Given the description of an element on the screen output the (x, y) to click on. 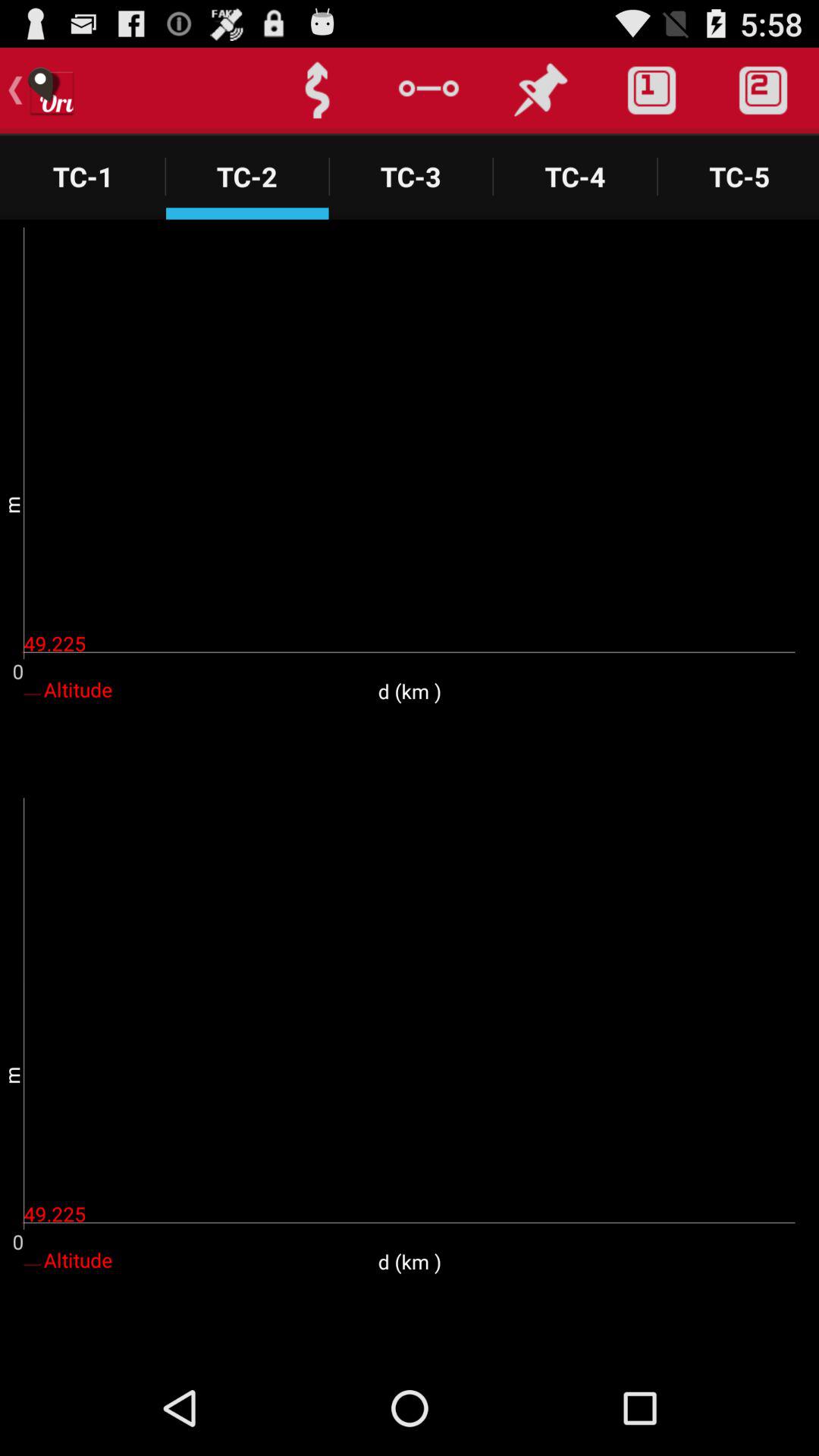
select app above the tc-3 item (428, 90)
